Given the description of an element on the screen output the (x, y) to click on. 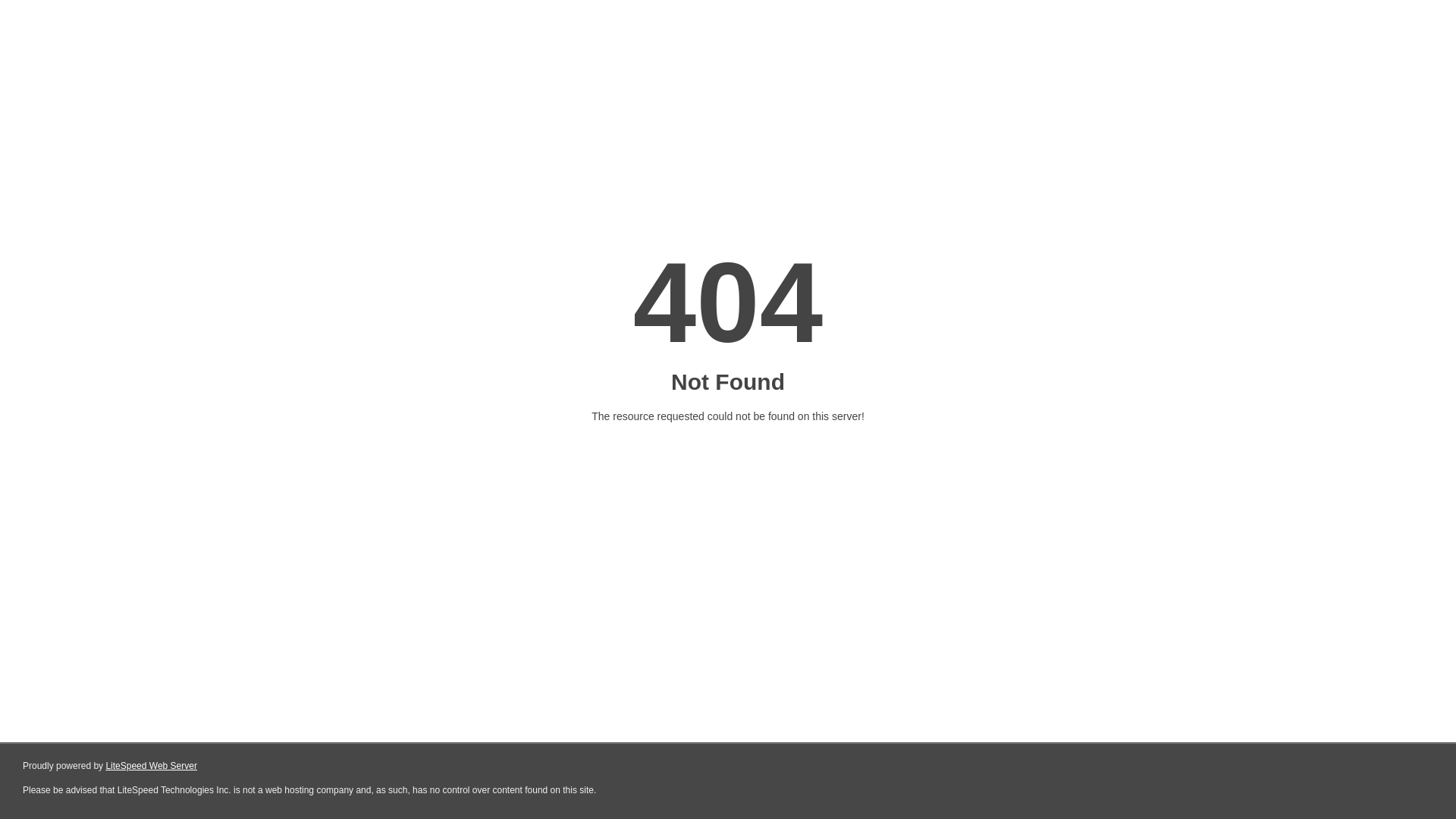
LiteSpeed Web Server (150, 765)
